Given the description of an element on the screen output the (x, y) to click on. 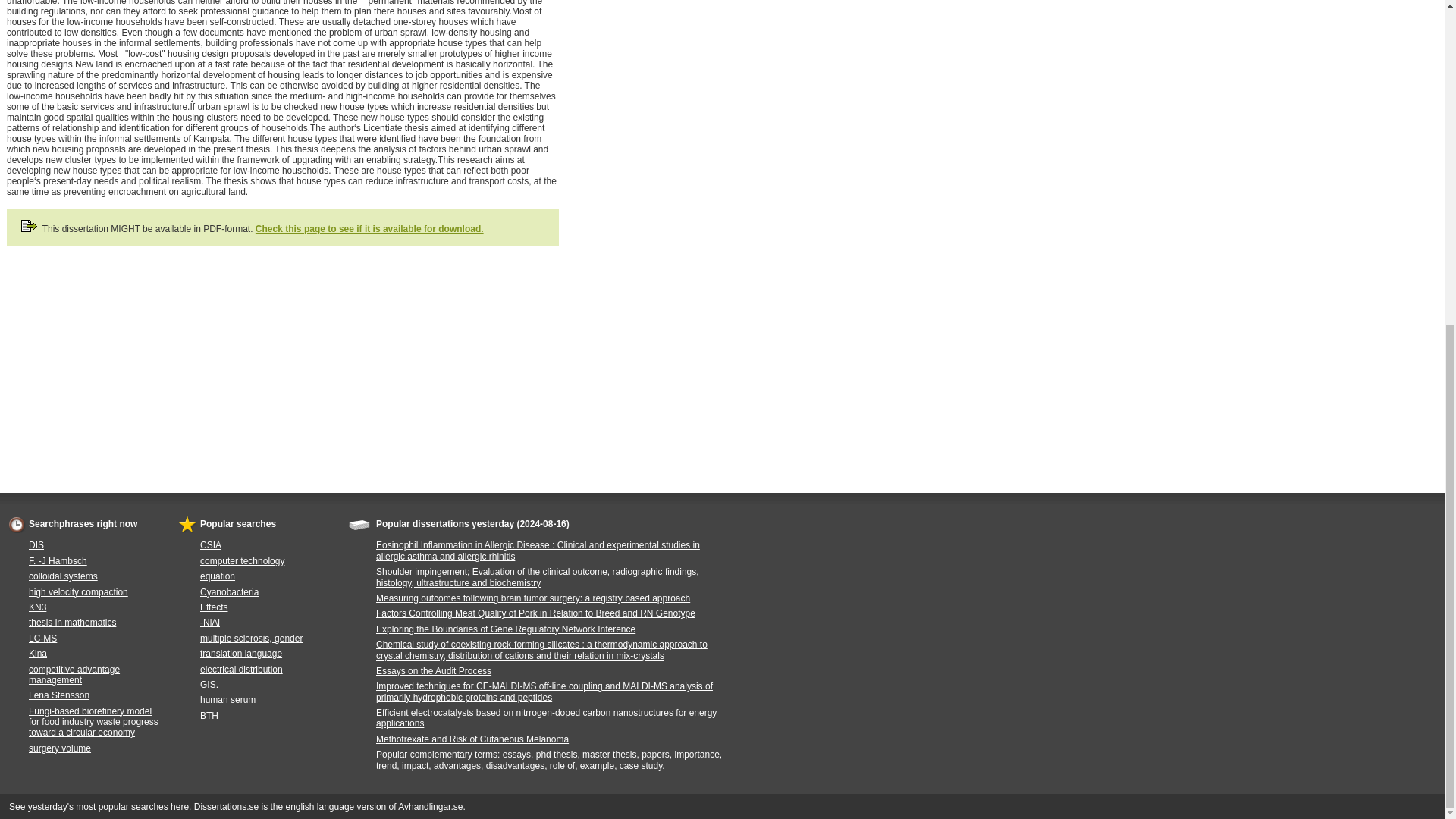
CSIA (210, 544)
LC-MS (42, 638)
DIS (36, 544)
Kina (37, 653)
F. -J Hambsch (58, 561)
-NiAl (209, 622)
competitive advantage management (74, 673)
Cyanobacteria (229, 592)
thesis in mathematics (72, 622)
